Given the description of an element on the screen output the (x, y) to click on. 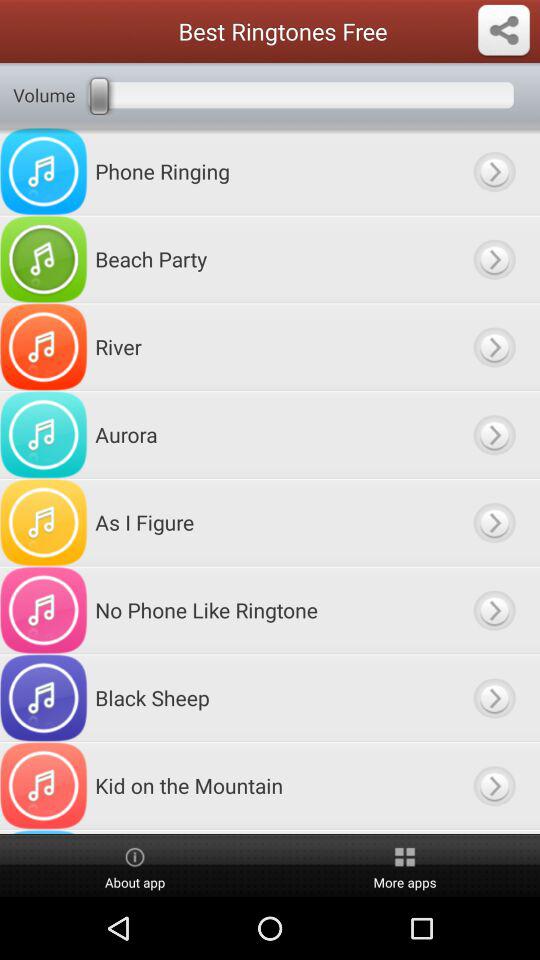
click on the fifth next button (494, 522)
click on share icon at top right corner (503, 30)
click the button the right next to the river button on the web page (494, 346)
